Given the description of an element on the screen output the (x, y) to click on. 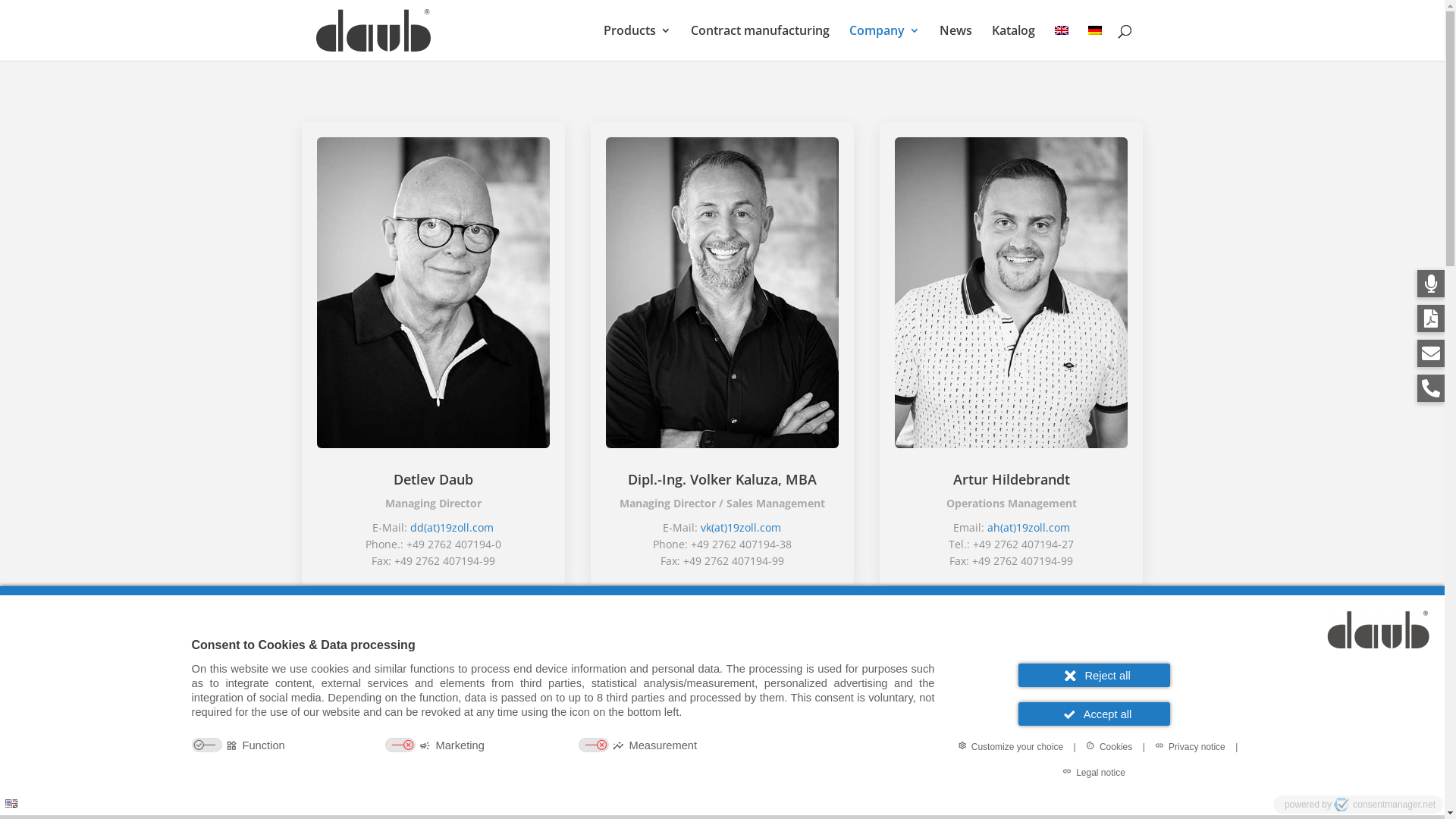
Reject all Element type: text (1093, 675)
Cookies Element type: text (1108, 746)
vk(at)19zoll.com Element type: text (740, 527)
Products Element type: text (637, 42)
Language: en Element type: hover (11, 803)
ah(at)19zoll.com Element type: text (1028, 527)
Katalog Element type: text (1013, 42)
Language: en Element type: hover (11, 802)
Legal notice Element type: text (1093, 771)
Customize your choice Element type: text (1010, 746)
News Element type: text (954, 42)
Company Element type: text (884, 42)
Privacy notice Element type: text (1190, 746)
Accept all Element type: text (1093, 713)
consentmanager.net Element type: text (1384, 804)
Privacy settings Element type: hover (17, 801)
dd(at)19zoll.com Element type: text (451, 527)
Contract manufacturing Element type: text (759, 42)
